Given the description of an element on the screen output the (x, y) to click on. 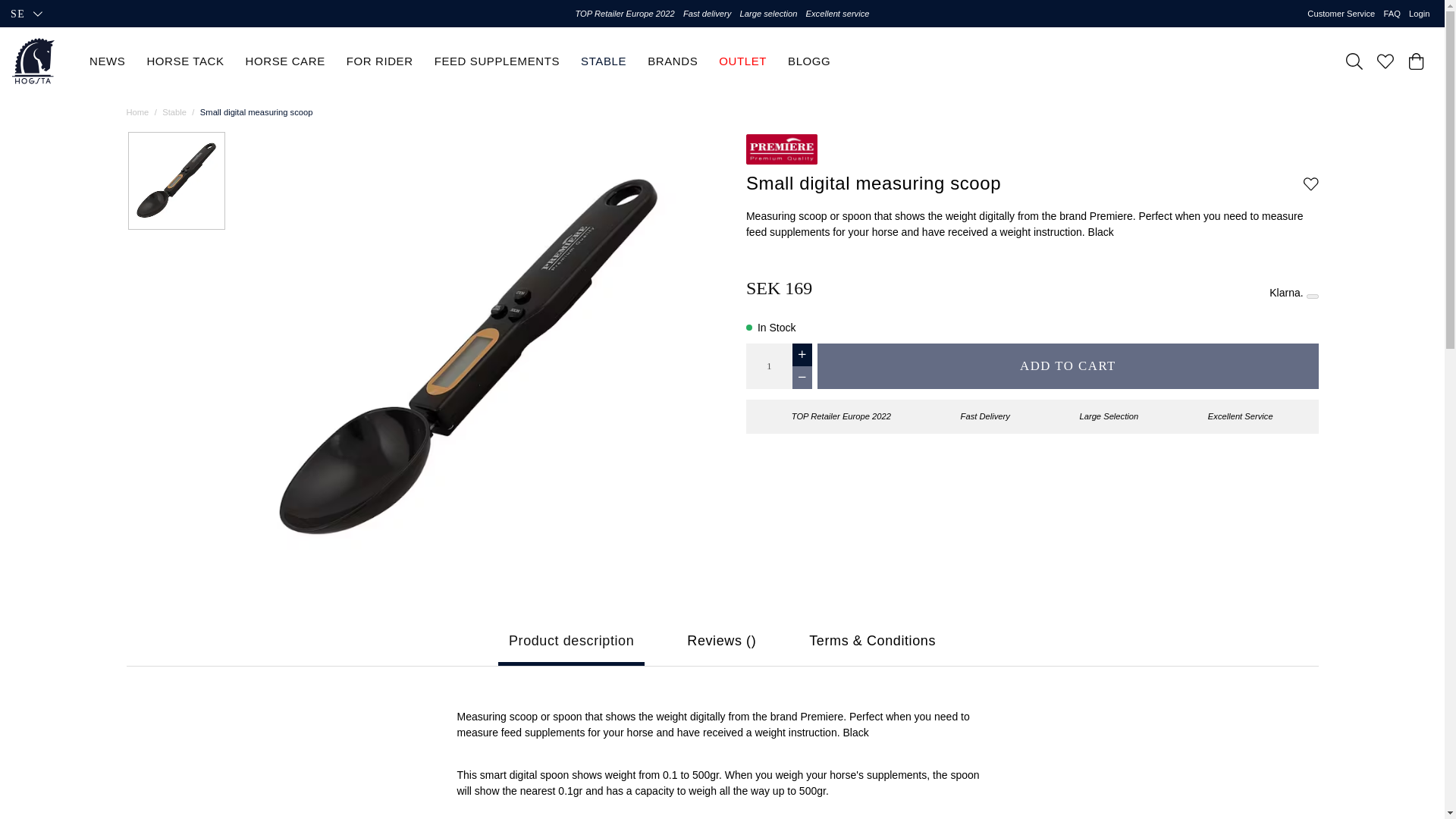
Stable (173, 112)
1 (768, 366)
FOR RIDER (379, 61)
FEED SUPPLEMENTS (496, 61)
FAQ (1391, 13)
HORSE CARE (285, 61)
Customer Service (1340, 13)
BRANDS (672, 61)
OUTLET (743, 61)
